Given the description of an element on the screen output the (x, y) to click on. 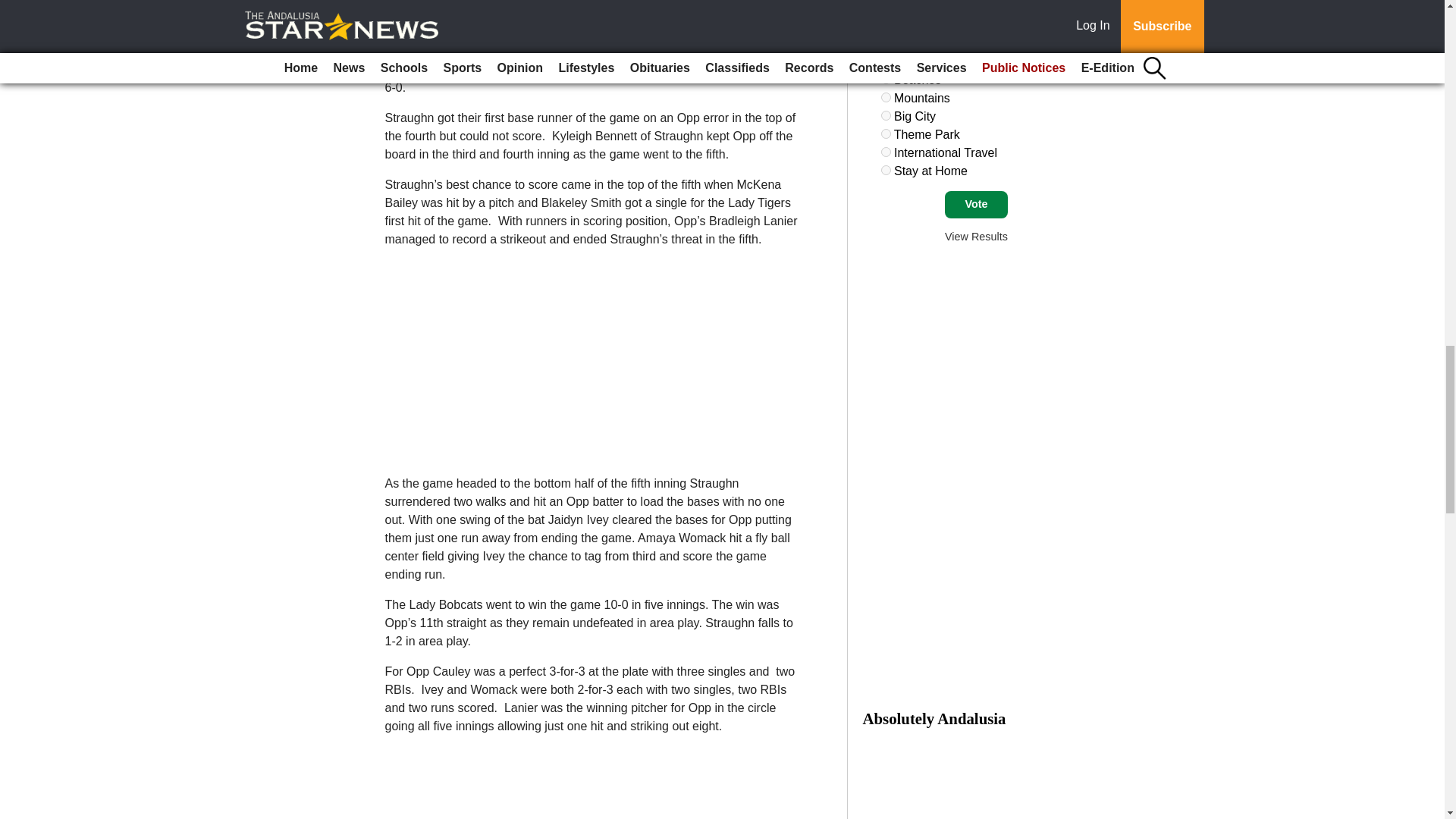
746 (885, 115)
745 (885, 97)
748 (885, 152)
View Results (975, 236)
   Vote    (975, 204)
View Results Of This Poll (975, 236)
747 (885, 133)
744 (885, 79)
749 (885, 170)
